Given the description of an element on the screen output the (x, y) to click on. 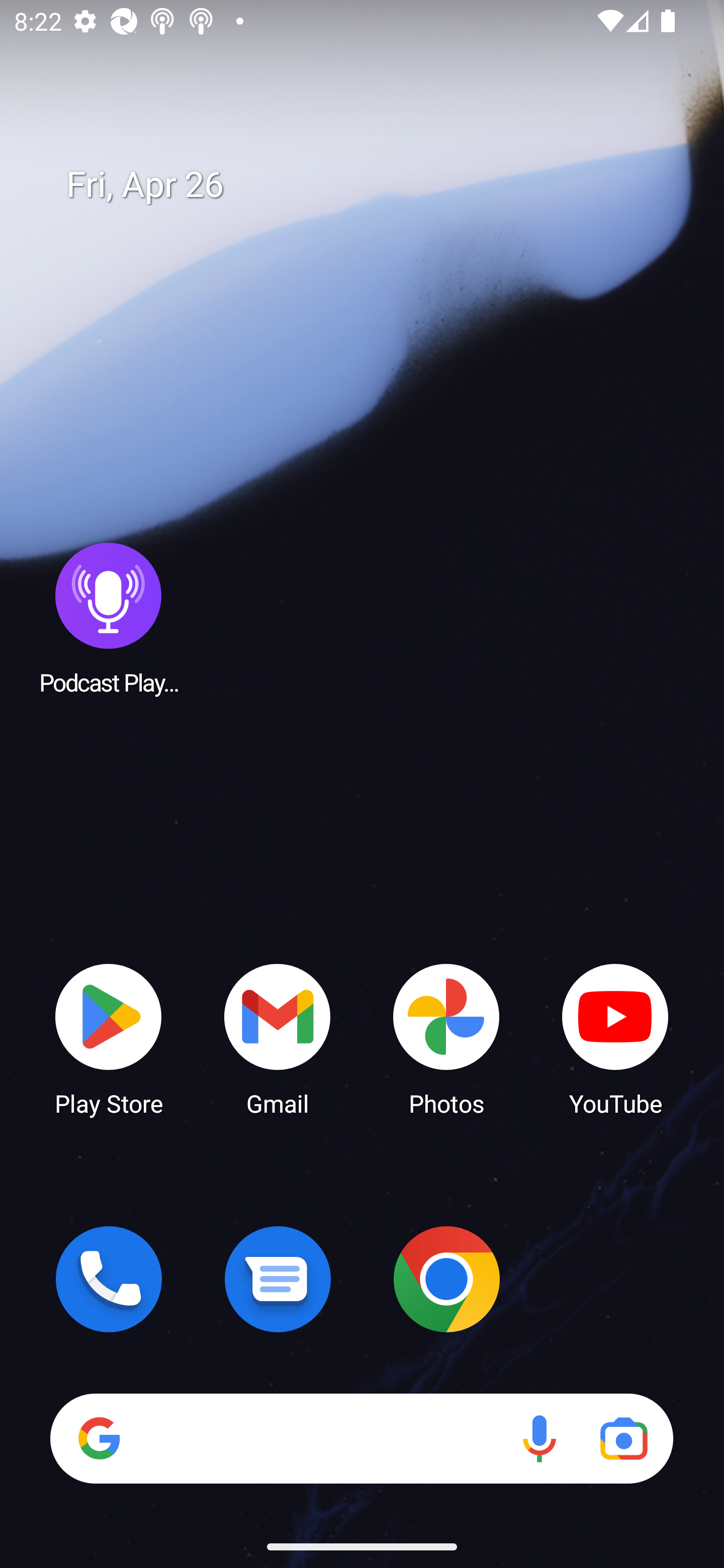
Fri, Apr 26 (375, 184)
Podcast Player (108, 617)
Play Store (108, 1038)
Gmail (277, 1038)
Photos (445, 1038)
YouTube (615, 1038)
Phone (108, 1279)
Messages (277, 1279)
Chrome (446, 1279)
Search Voice search Google Lens (361, 1438)
Voice search (539, 1438)
Google Lens (623, 1438)
